Given the description of an element on the screen output the (x, y) to click on. 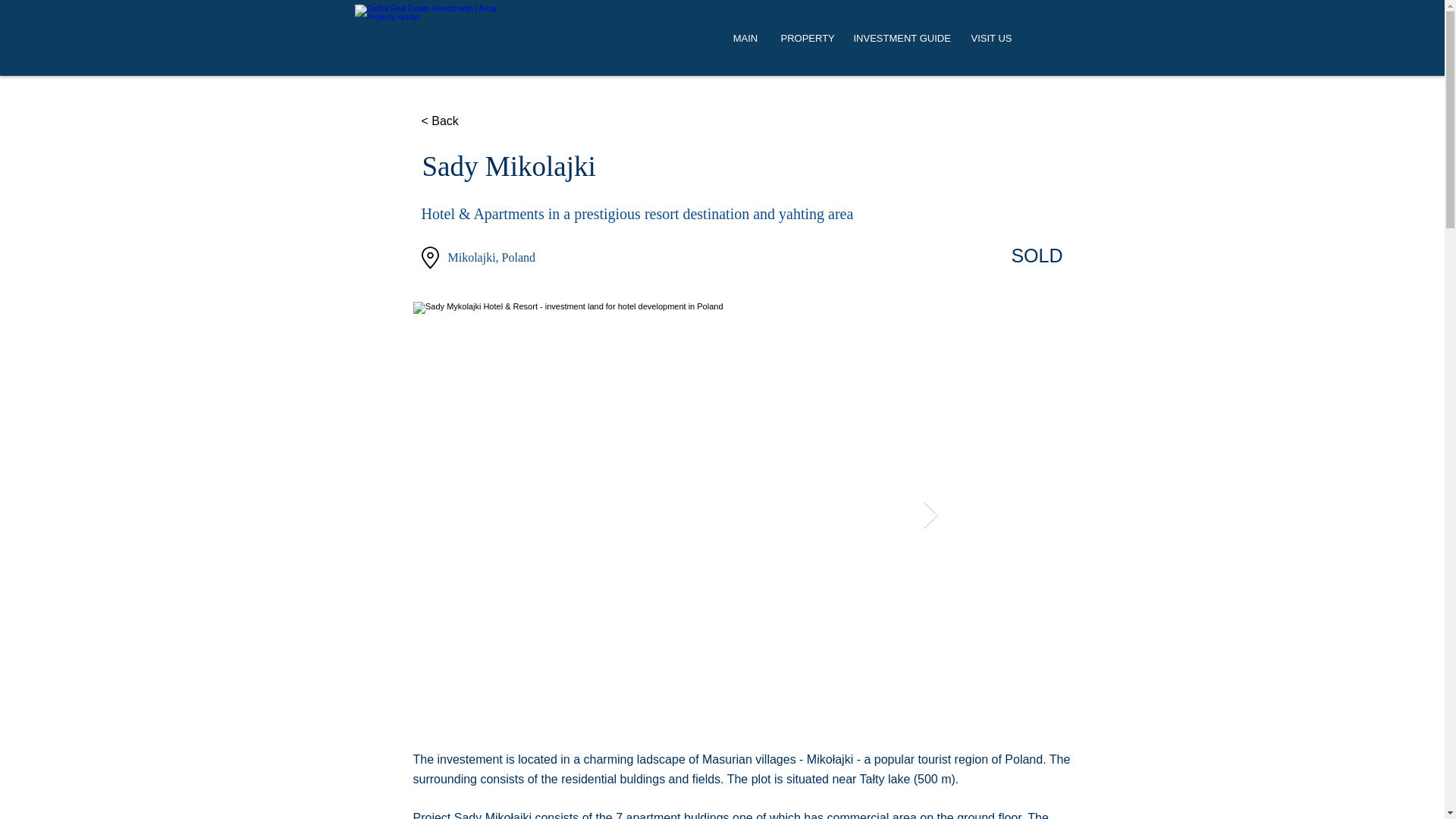
MAIN (746, 38)
VISIT US (990, 38)
INVESTMENT GUIDE (900, 38)
PROPERTY (804, 38)
